Given the description of an element on the screen output the (x, y) to click on. 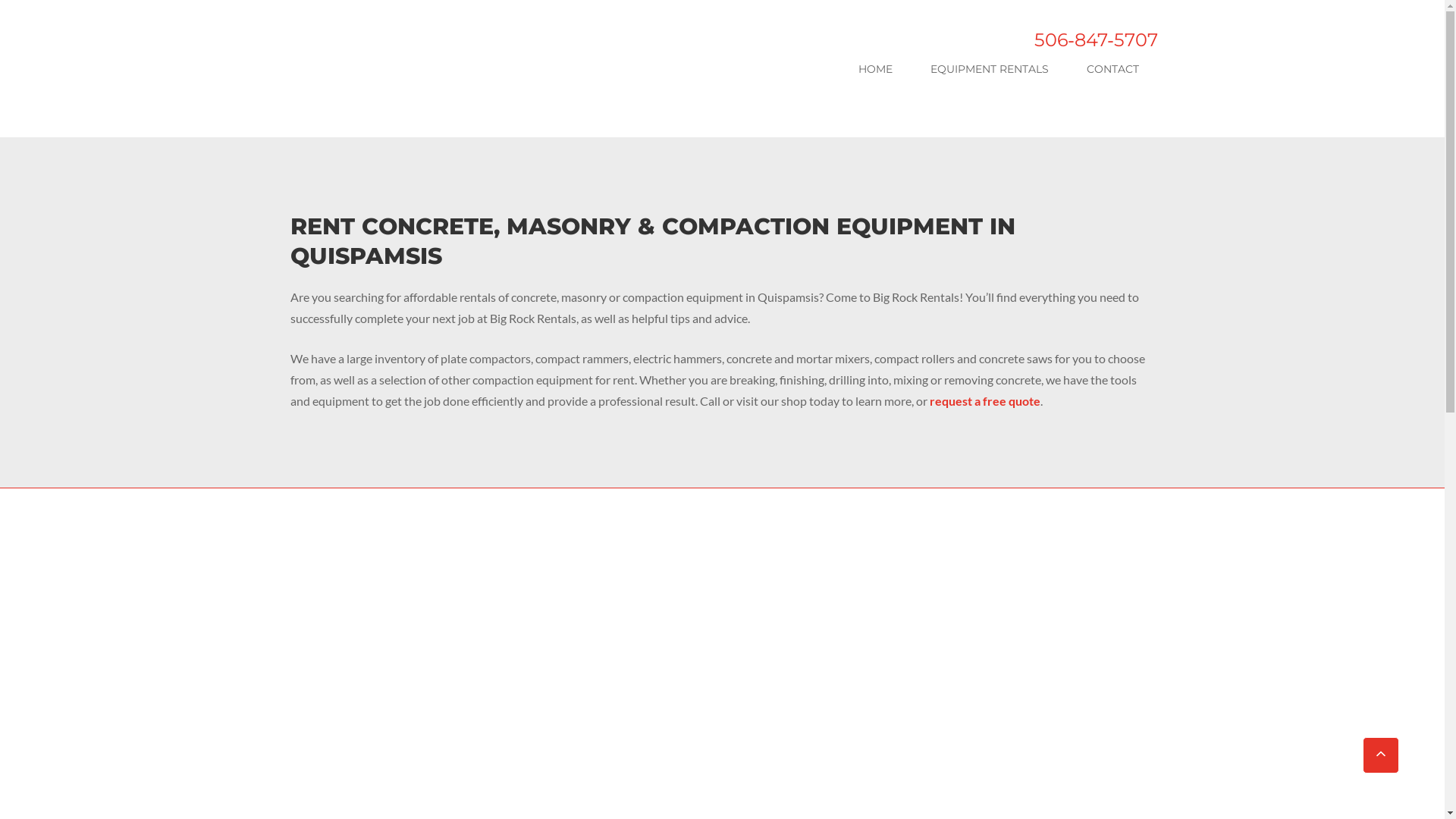
request a free quote Element type: text (858, 367)
EQUIPMENT RENTALS Element type: text (995, 70)
CONTACT Element type: text (1113, 70)
HOME Element type: text (886, 70)
